Given the description of an element on the screen output the (x, y) to click on. 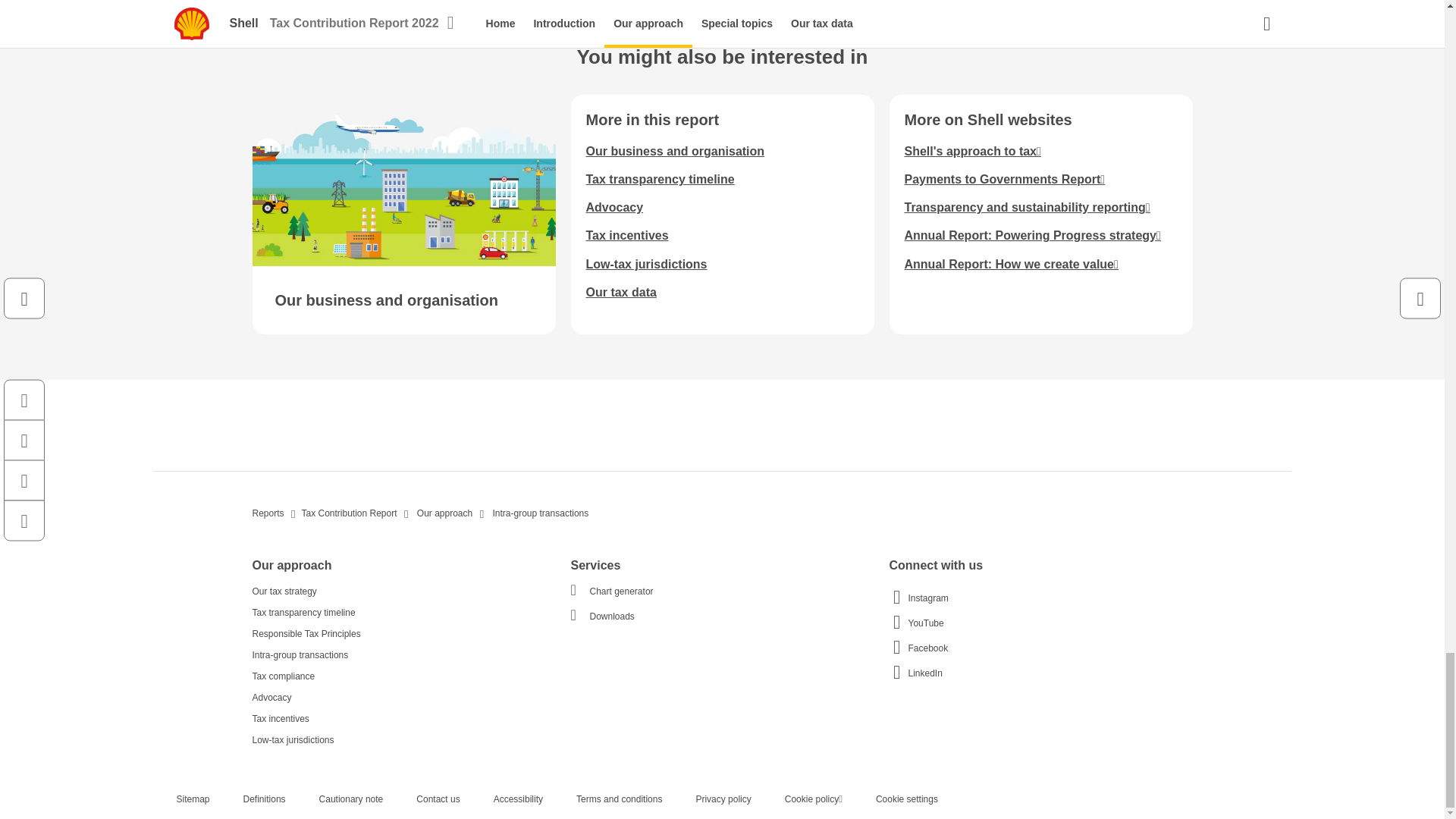
Opens in new window (1004, 178)
Opens in new window (1027, 206)
Opens in new window (1011, 264)
Opens in new window (1032, 235)
Opens in new window (972, 151)
